Given the description of an element on the screen output the (x, y) to click on. 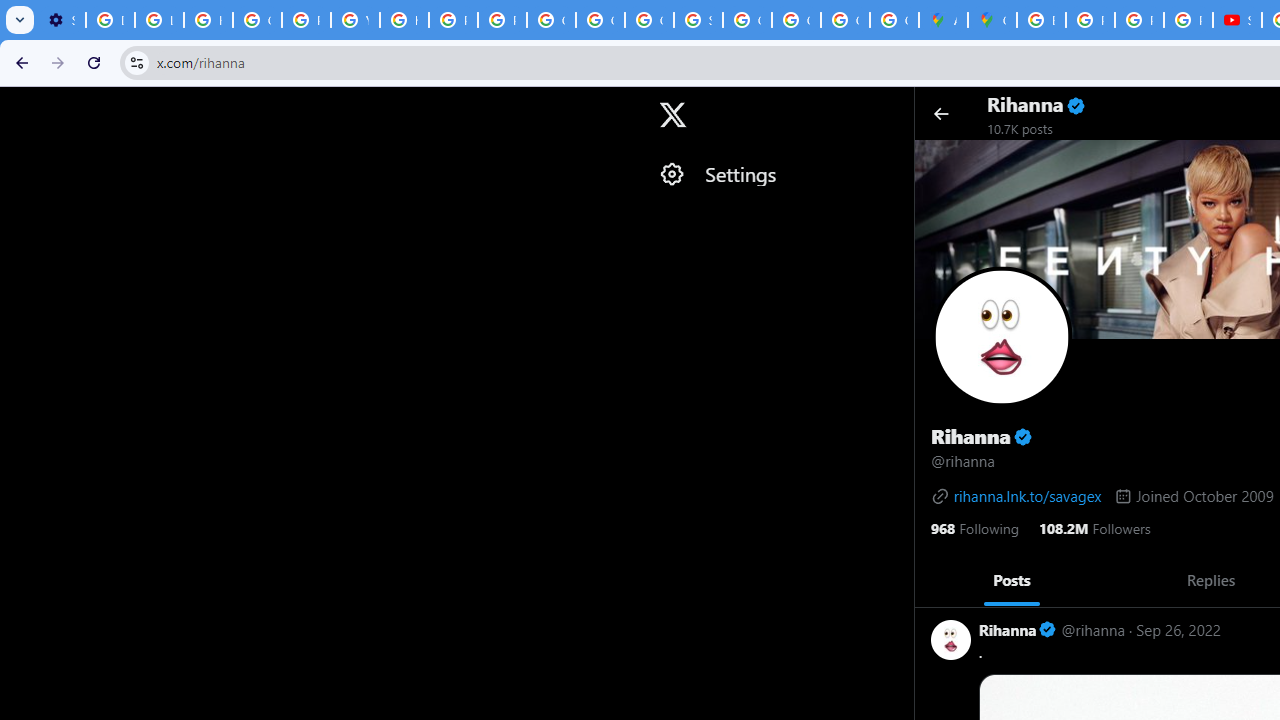
Settings - Customize profile (61, 20)
